Given the description of an element on the screen output the (x, y) to click on. 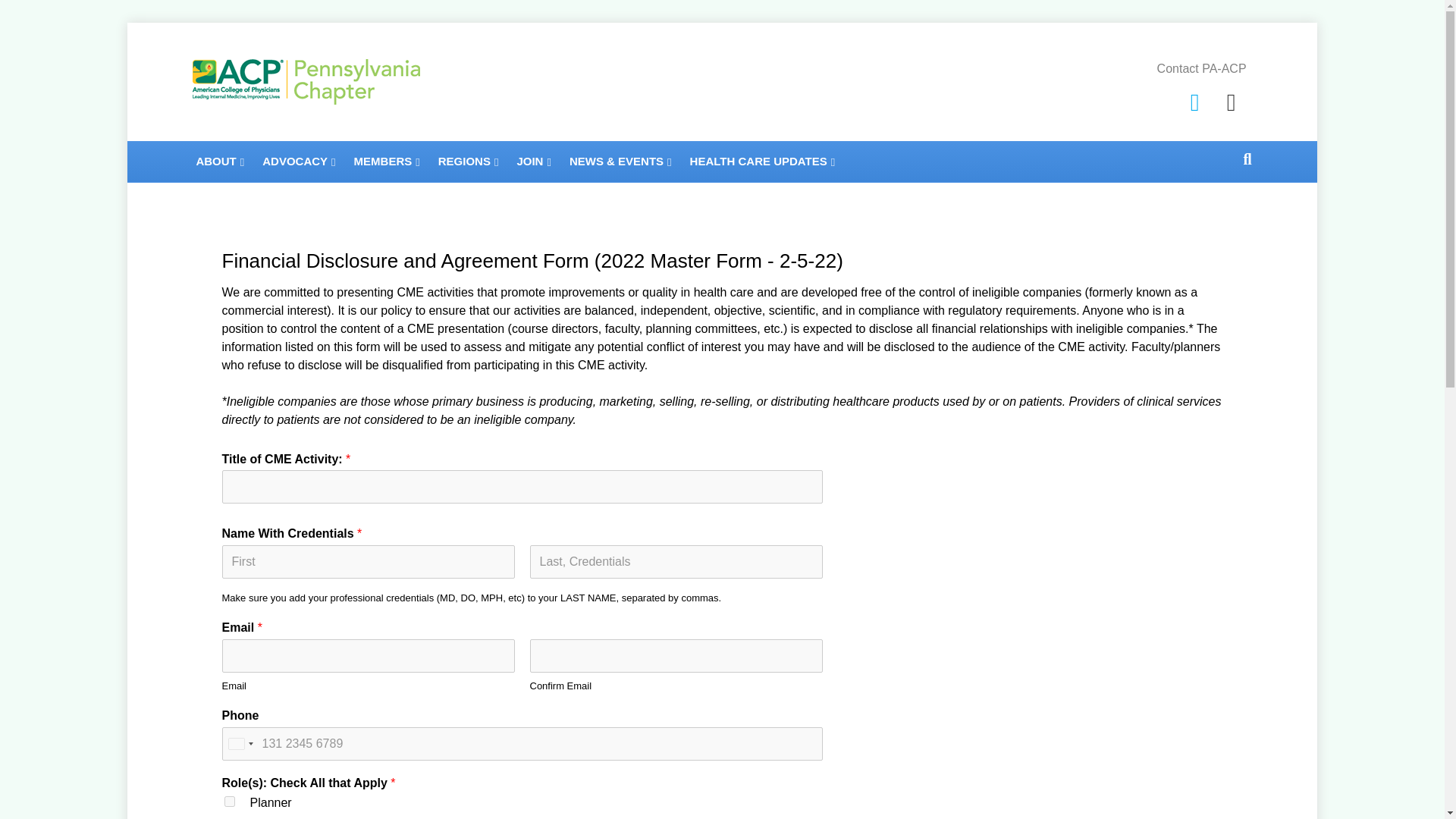
Contact PA-ACP (1201, 68)
Twitter (1194, 102)
REGIONS (468, 161)
ADVOCACY (298, 161)
MEMBERS (387, 161)
Email (1230, 102)
ABOUT (219, 161)
Planner (229, 801)
JOIN (533, 161)
